Given the description of an element on the screen output the (x, y) to click on. 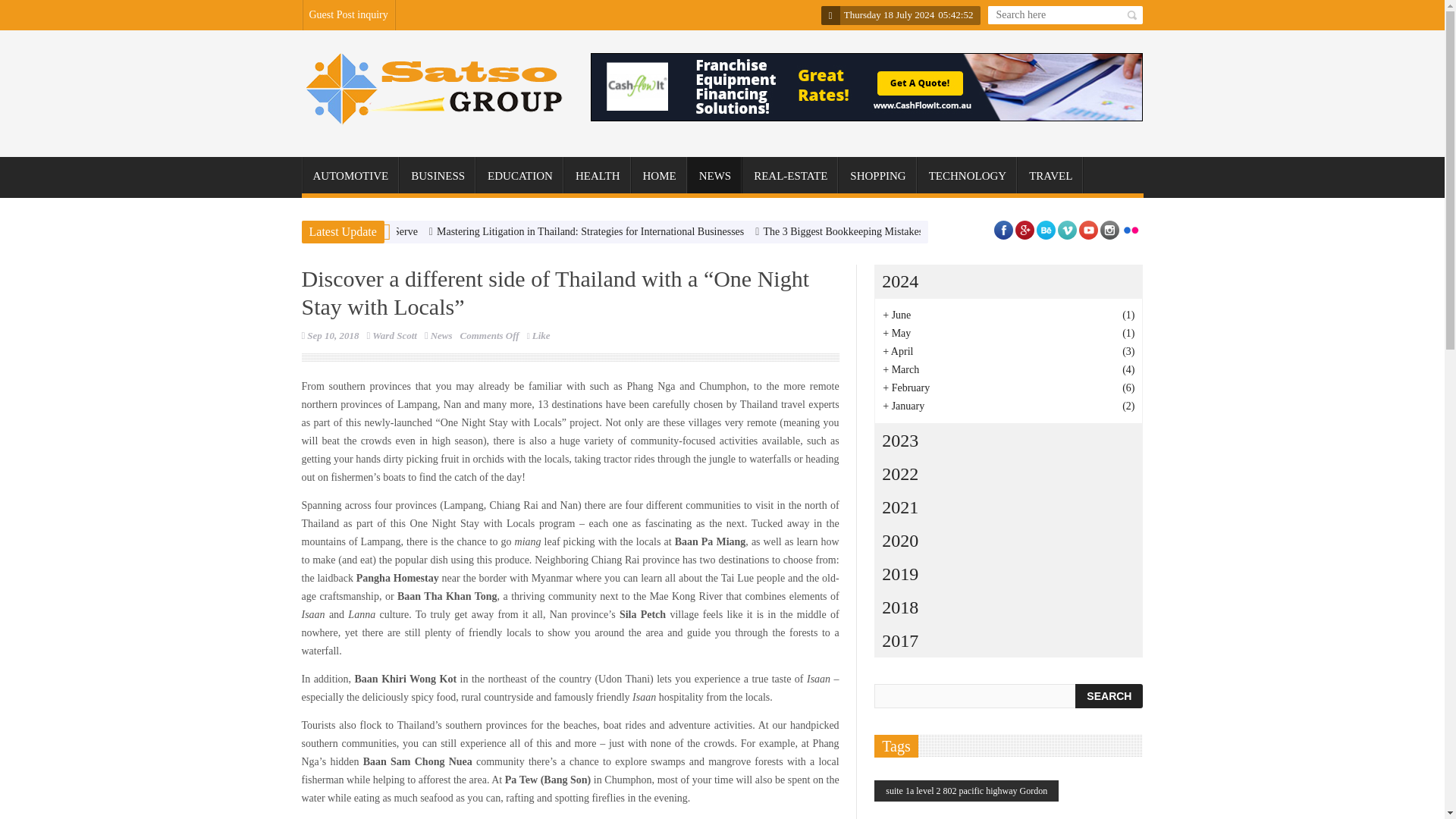
Posts by Ward Scott (394, 335)
AUTOMOTIVE (350, 175)
HEALTH (597, 175)
TECHNOLOGY (967, 175)
HOME (659, 175)
Like (538, 335)
Search (1108, 695)
BUSINESS (437, 175)
Guest Post inquiry (348, 15)
SHOPPING (877, 175)
NEWS (714, 175)
EDUCATION (520, 175)
REAL-ESTATE (790, 175)
